Given the description of an element on the screen output the (x, y) to click on. 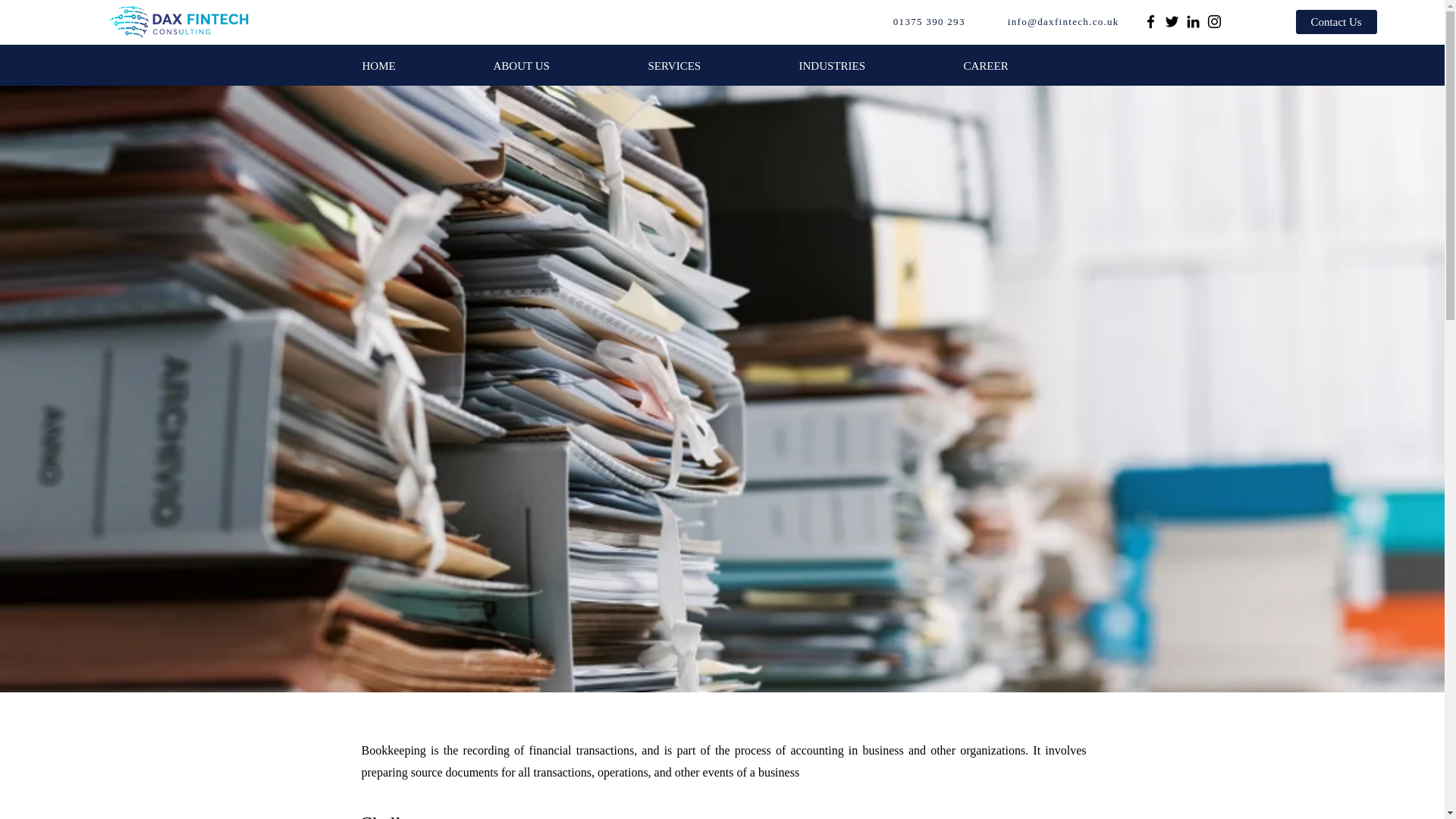
ABOUT US (559, 65)
01375 390 293 (928, 21)
HOME (415, 65)
CAREER (1023, 65)
Contact Us (1336, 21)
